Given the description of an element on the screen output the (x, y) to click on. 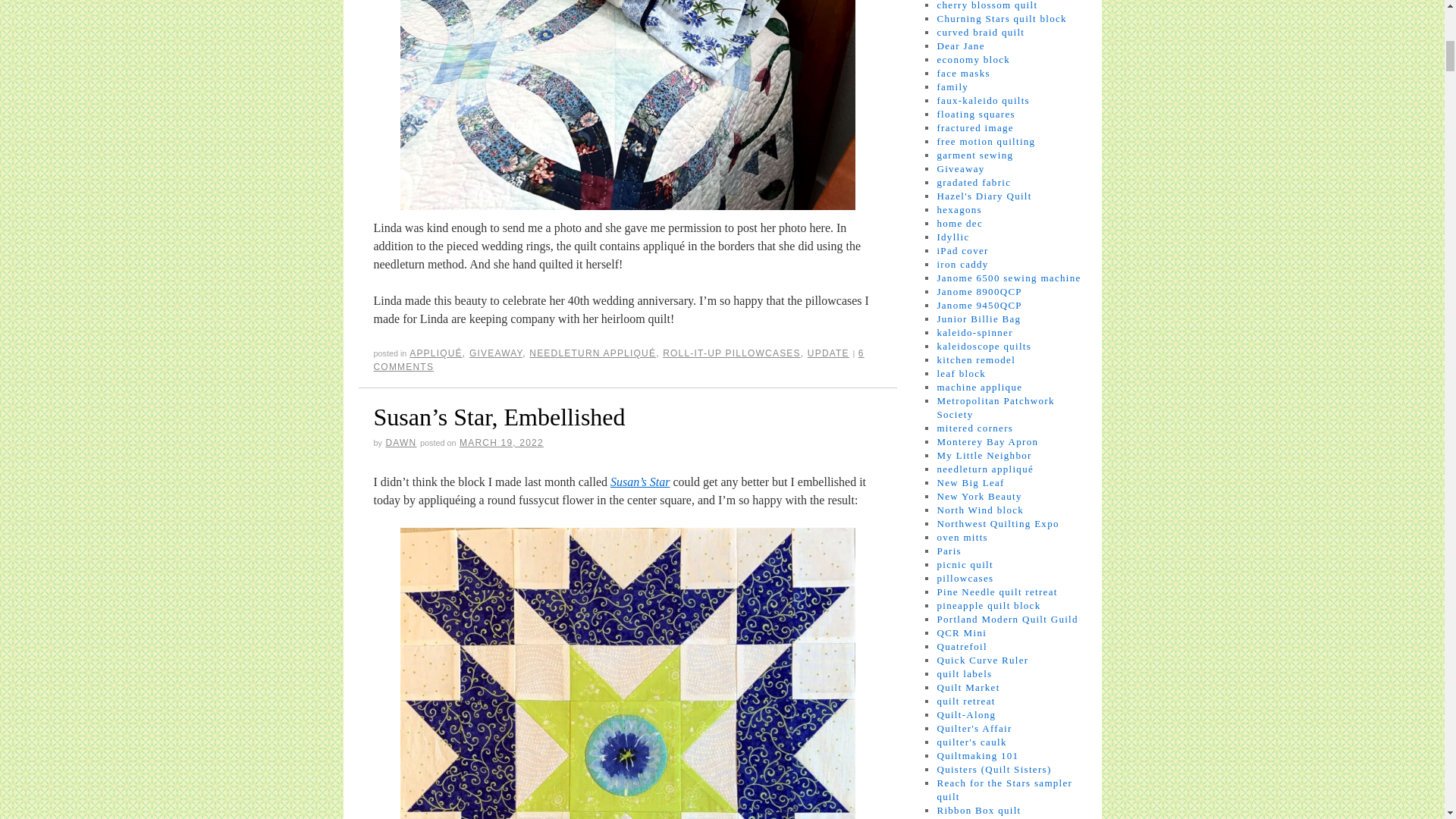
UPDATE (828, 353)
View all posts by Dawn (400, 442)
ROLL-IT-UP PILLOWCASES (731, 353)
9:46 pm (501, 442)
6 COMMENTS (617, 360)
GIVEAWAY (495, 353)
DAWN (400, 442)
MARCH 19, 2022 (501, 442)
